Given the description of an element on the screen output the (x, y) to click on. 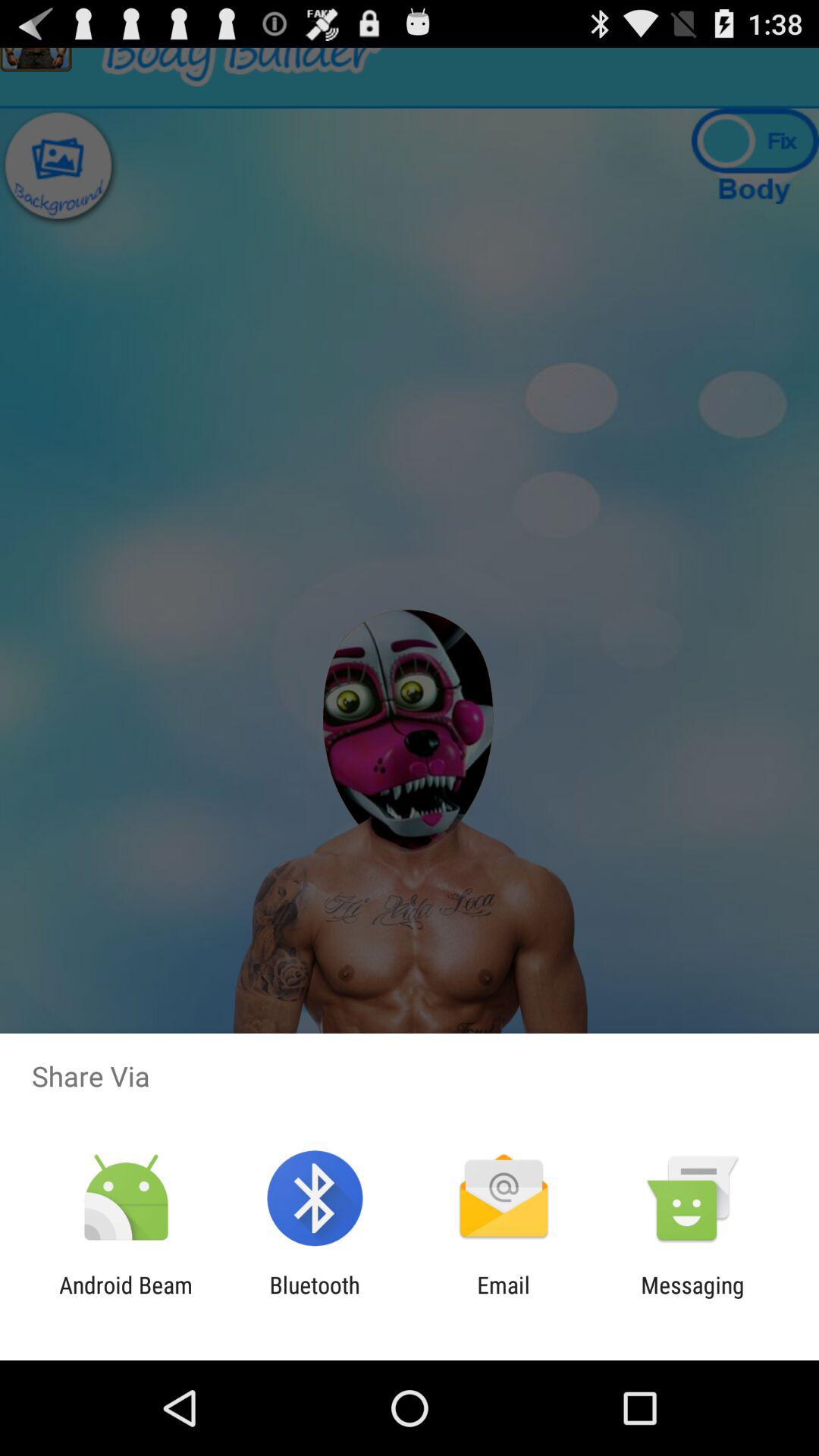
press android beam icon (125, 1298)
